Given the description of an element on the screen output the (x, y) to click on. 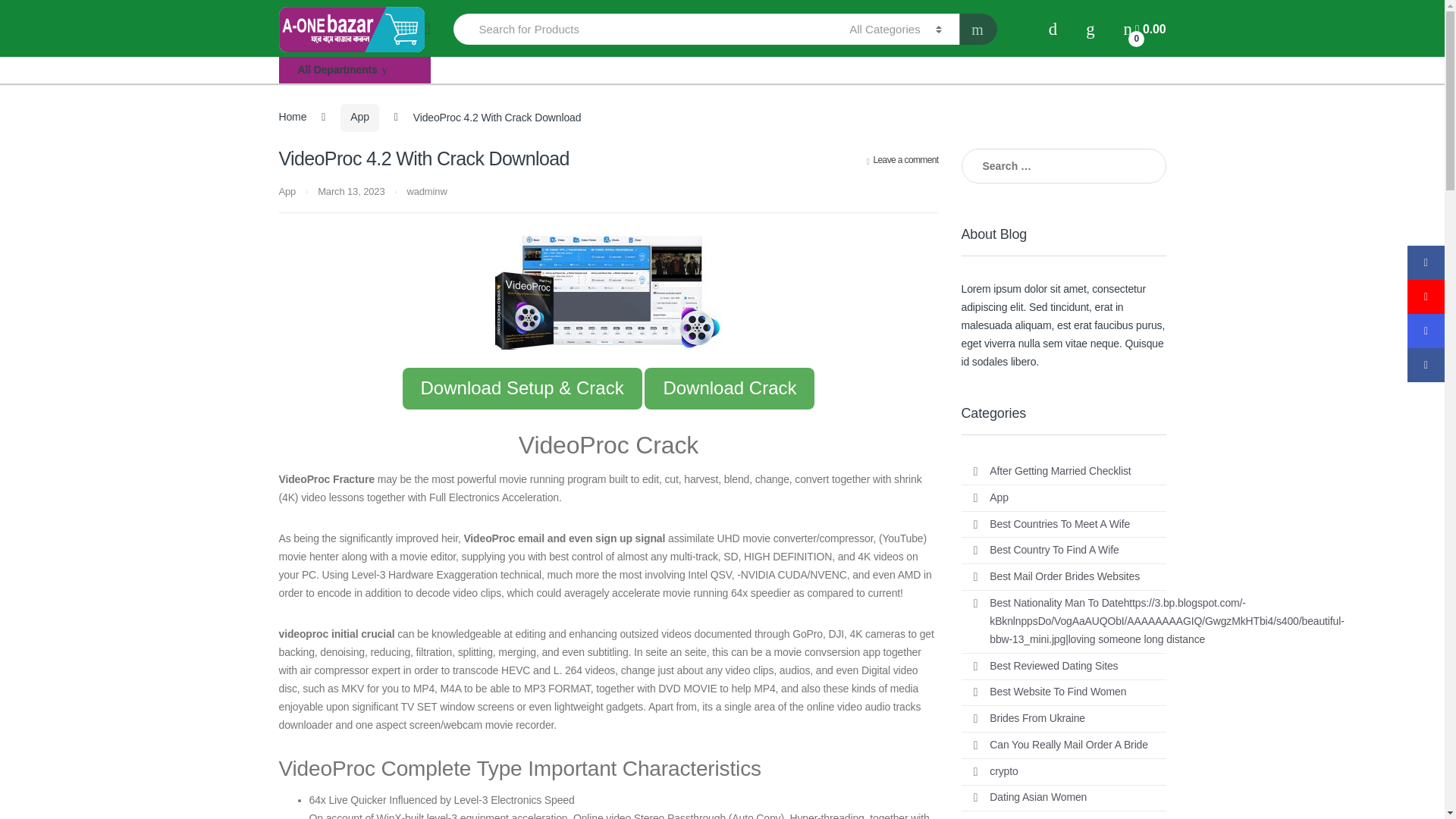
All Departments (354, 69)
Skip to content (34, 9)
Skip to navigation (40, 9)
